Given the description of an element on the screen output the (x, y) to click on. 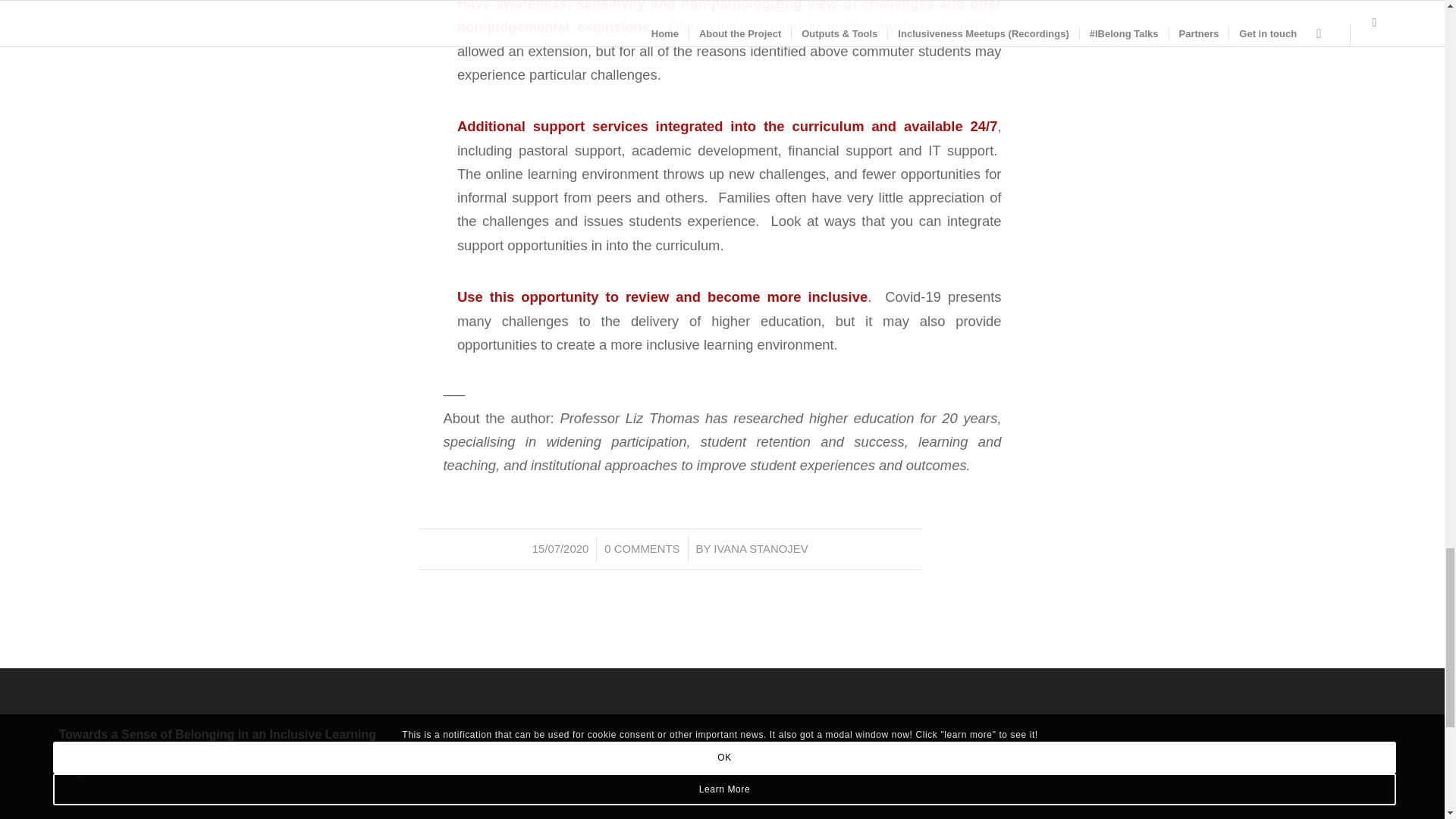
0 COMMENTS (641, 548)
IVANA STANOJEV (760, 548)
Posts by Ivana Stanojev (760, 548)
